Given the description of an element on the screen output the (x, y) to click on. 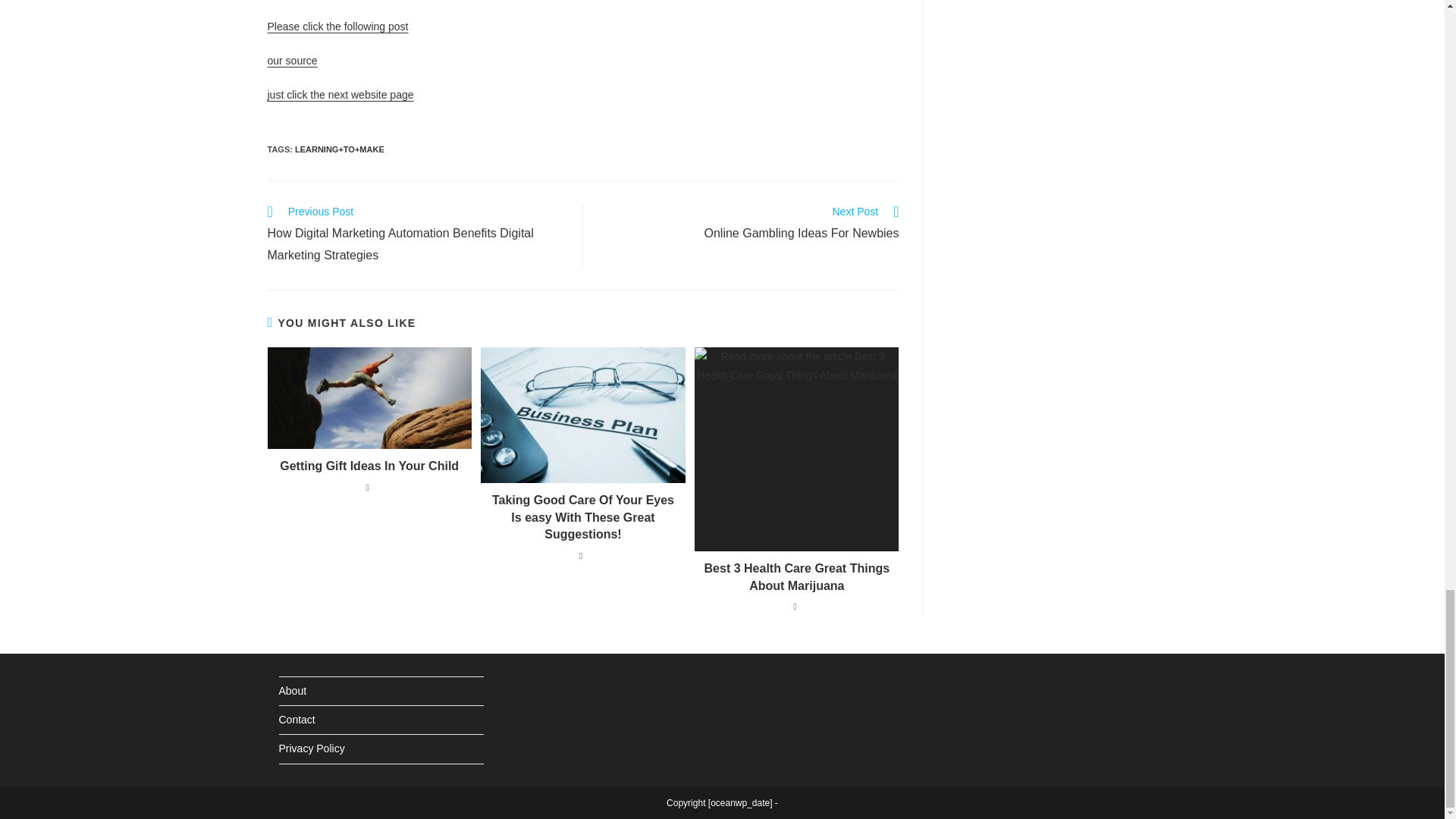
just click the next website page (339, 94)
Getting Gift Ideas In Your Child (748, 223)
Please click the following post (368, 466)
Best 3 Health Care Great Things About Marijuana (336, 26)
our source (796, 577)
